Given the description of an element on the screen output the (x, y) to click on. 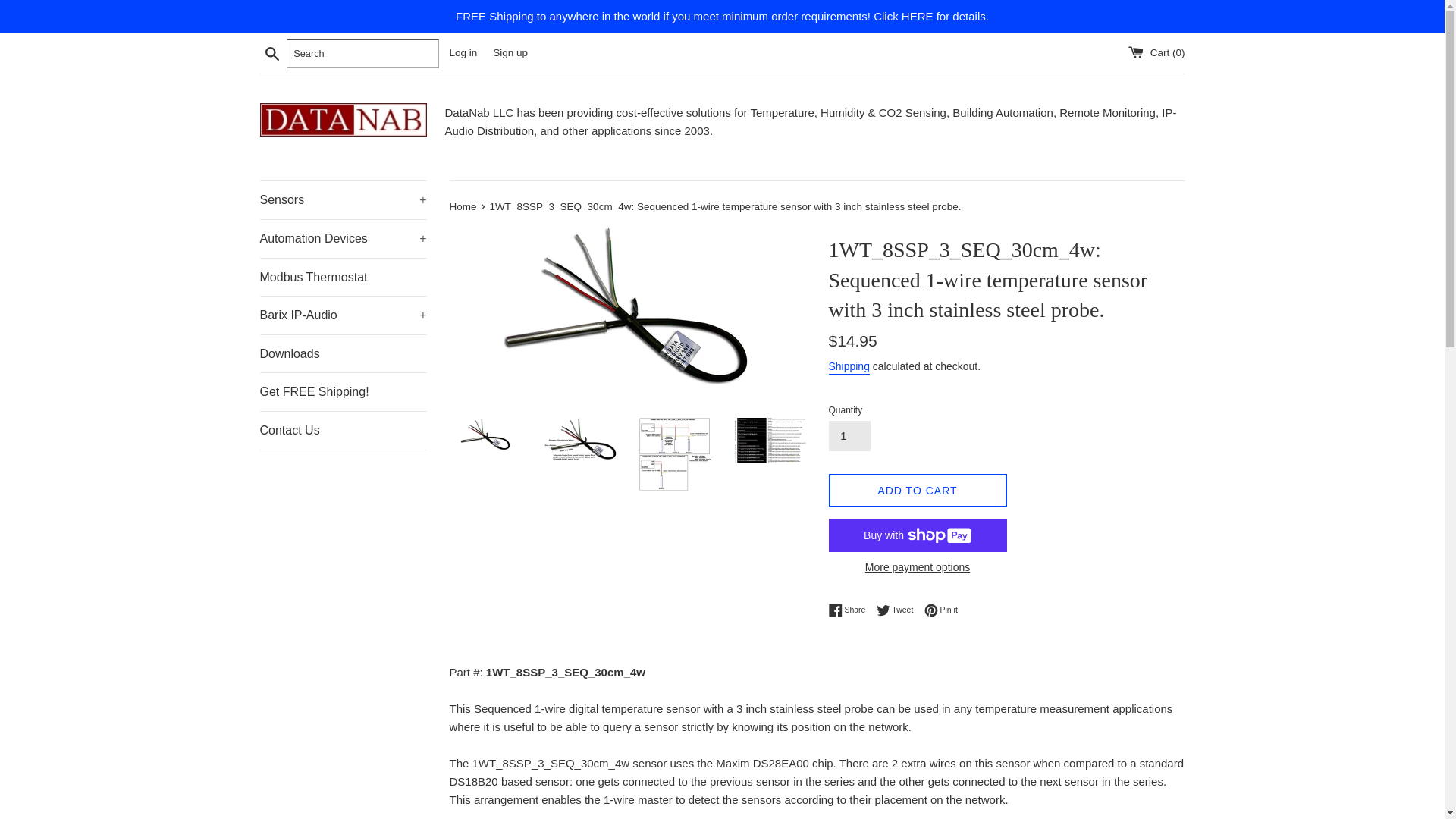
1 (848, 435)
Search (271, 52)
Sign up (510, 52)
Tweet on Twitter (898, 610)
Log in (462, 52)
Downloads (342, 353)
Get FREE Shipping! (342, 392)
Share on Facebook (850, 610)
Back to the frontpage (463, 206)
Contact Us (342, 430)
